Given the description of an element on the screen output the (x, y) to click on. 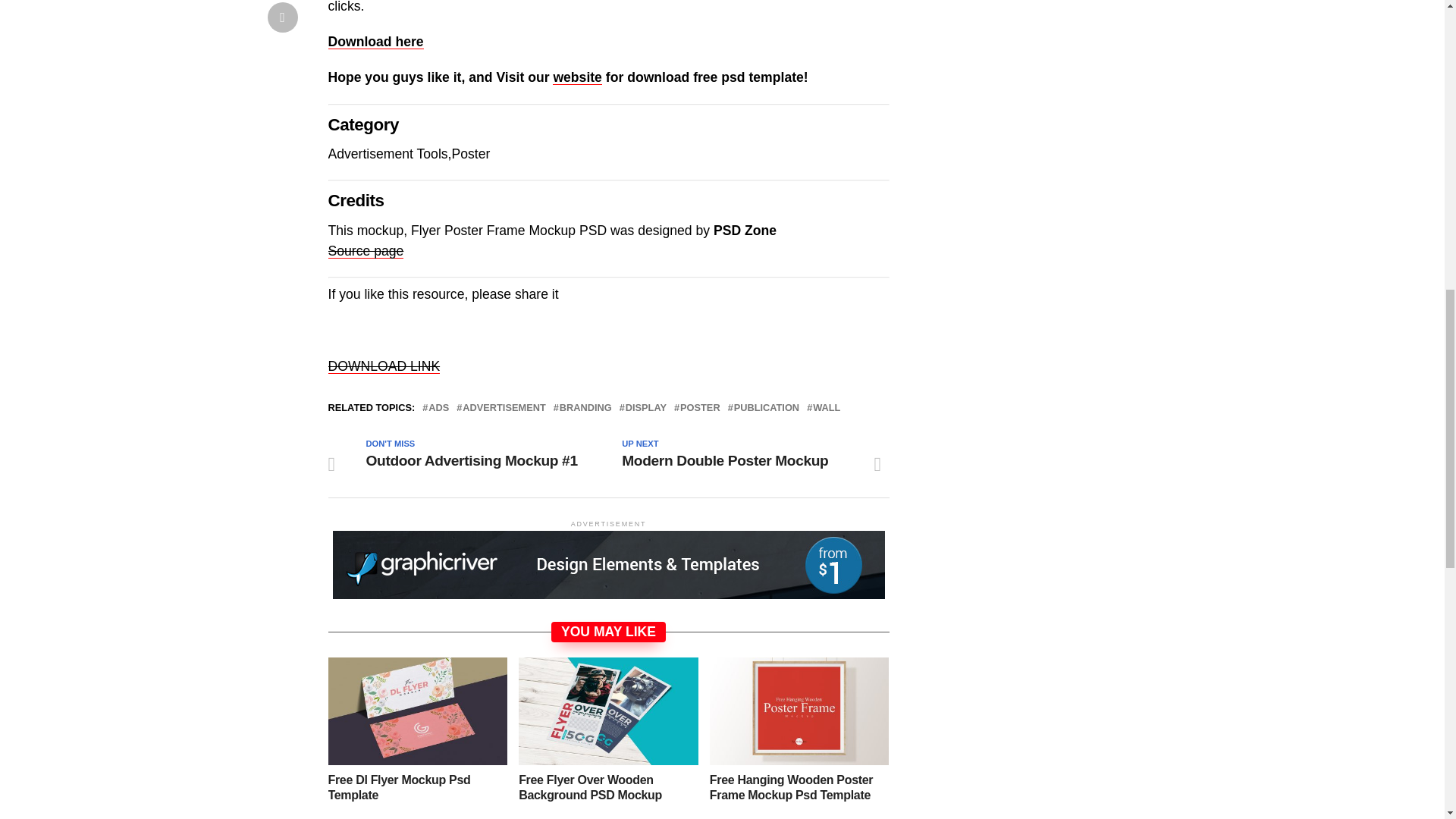
Free Dl Flyer Mockup Psd Template (416, 710)
Free Hanging Wooden Poster Frame Mockup Psd Template (799, 710)
Free Flyer Over Wooden Background PSD Mockup (608, 710)
